Given the description of an element on the screen output the (x, y) to click on. 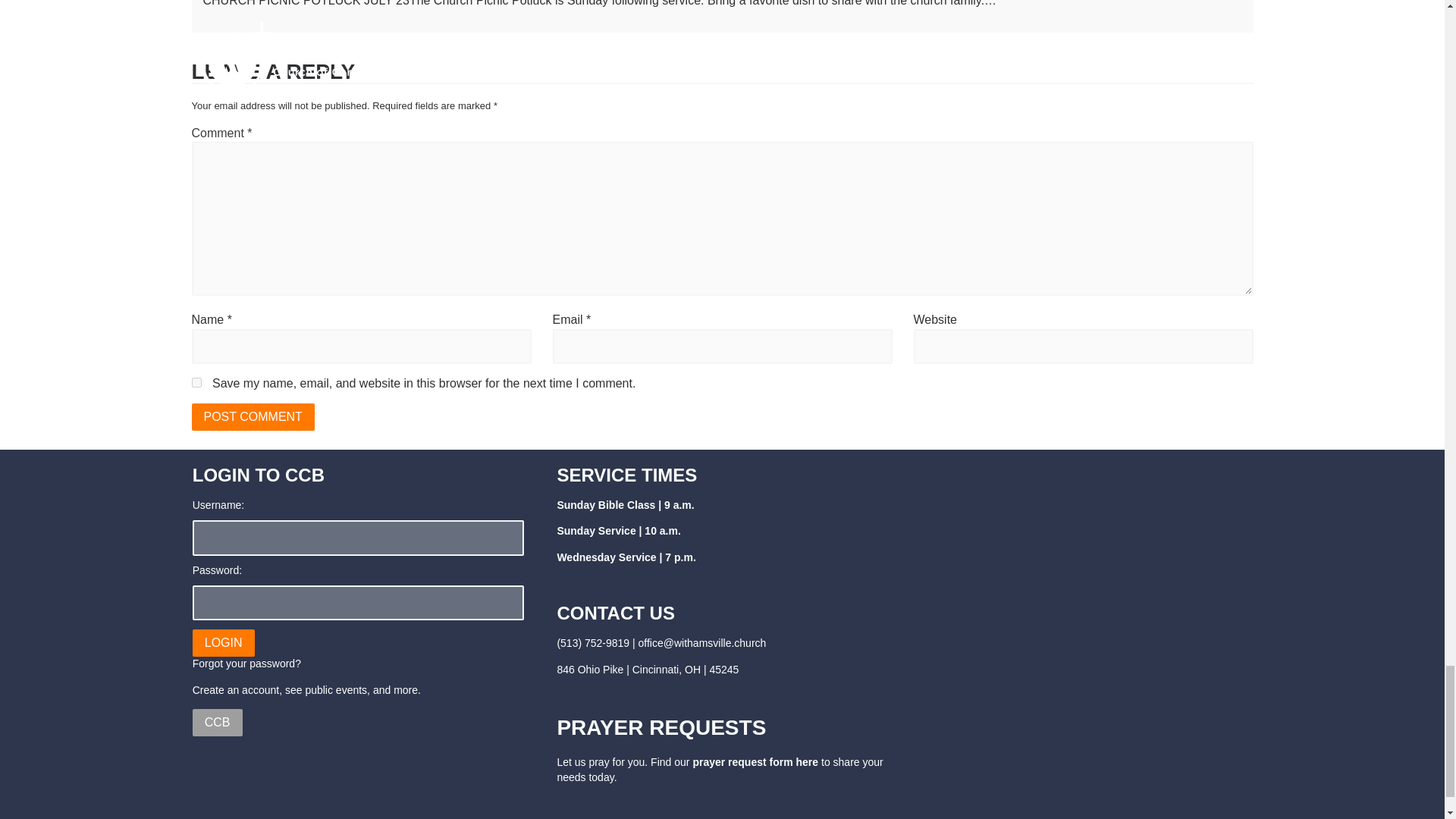
yes (195, 382)
Post Comment (252, 416)
Login (223, 642)
